Given the description of an element on the screen output the (x, y) to click on. 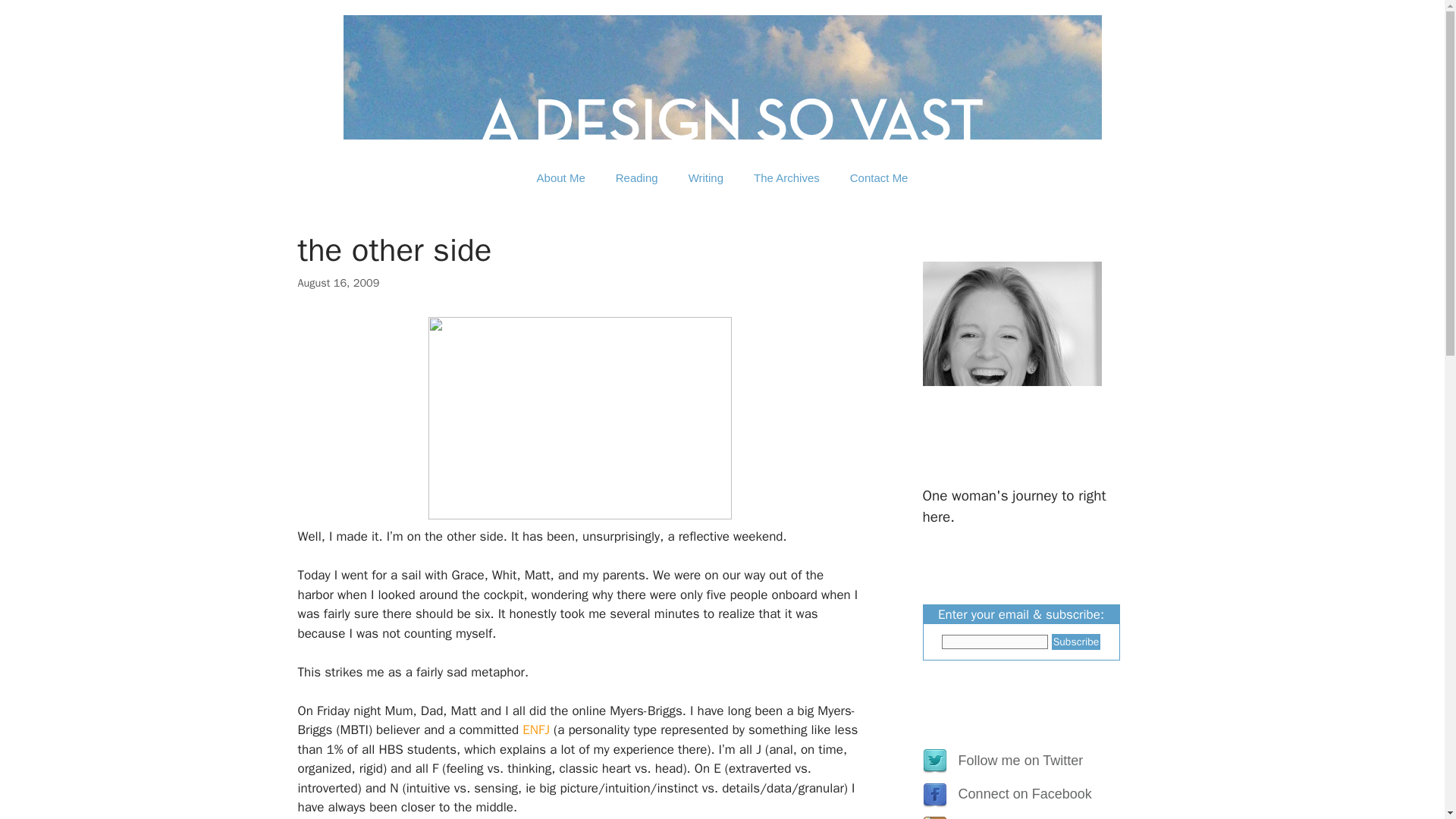
Reading (635, 177)
ENFJ (536, 729)
Connect on Facebook (1021, 793)
About Me (560, 177)
Follow me on Twitter (1016, 760)
Contact Me (878, 177)
The Archives (786, 177)
Subscribe (1075, 641)
Subscribe (1075, 641)
Writing (705, 177)
